Given the description of an element on the screen output the (x, y) to click on. 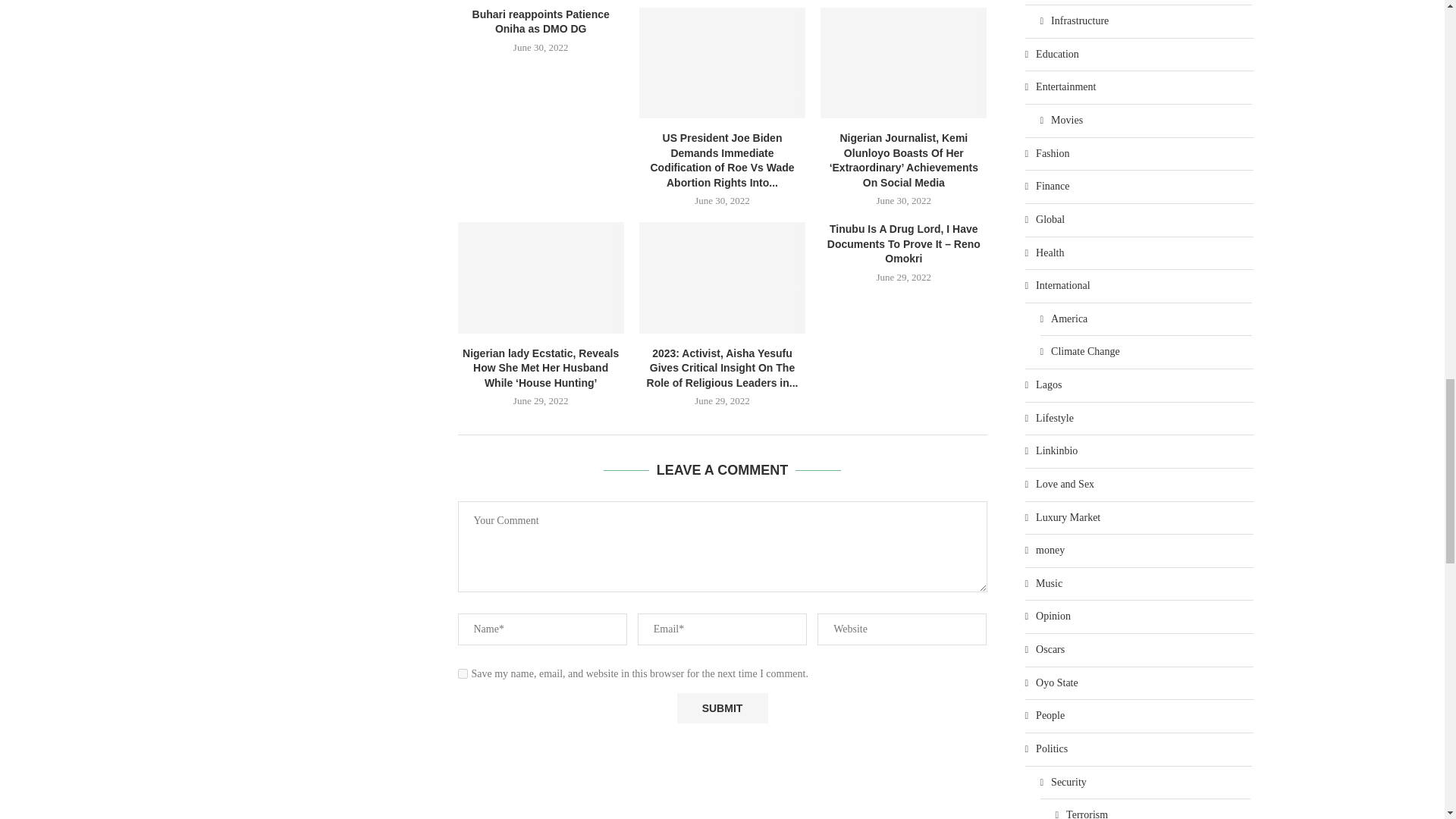
yes (462, 673)
Submit (722, 707)
